Given the description of an element on the screen output the (x, y) to click on. 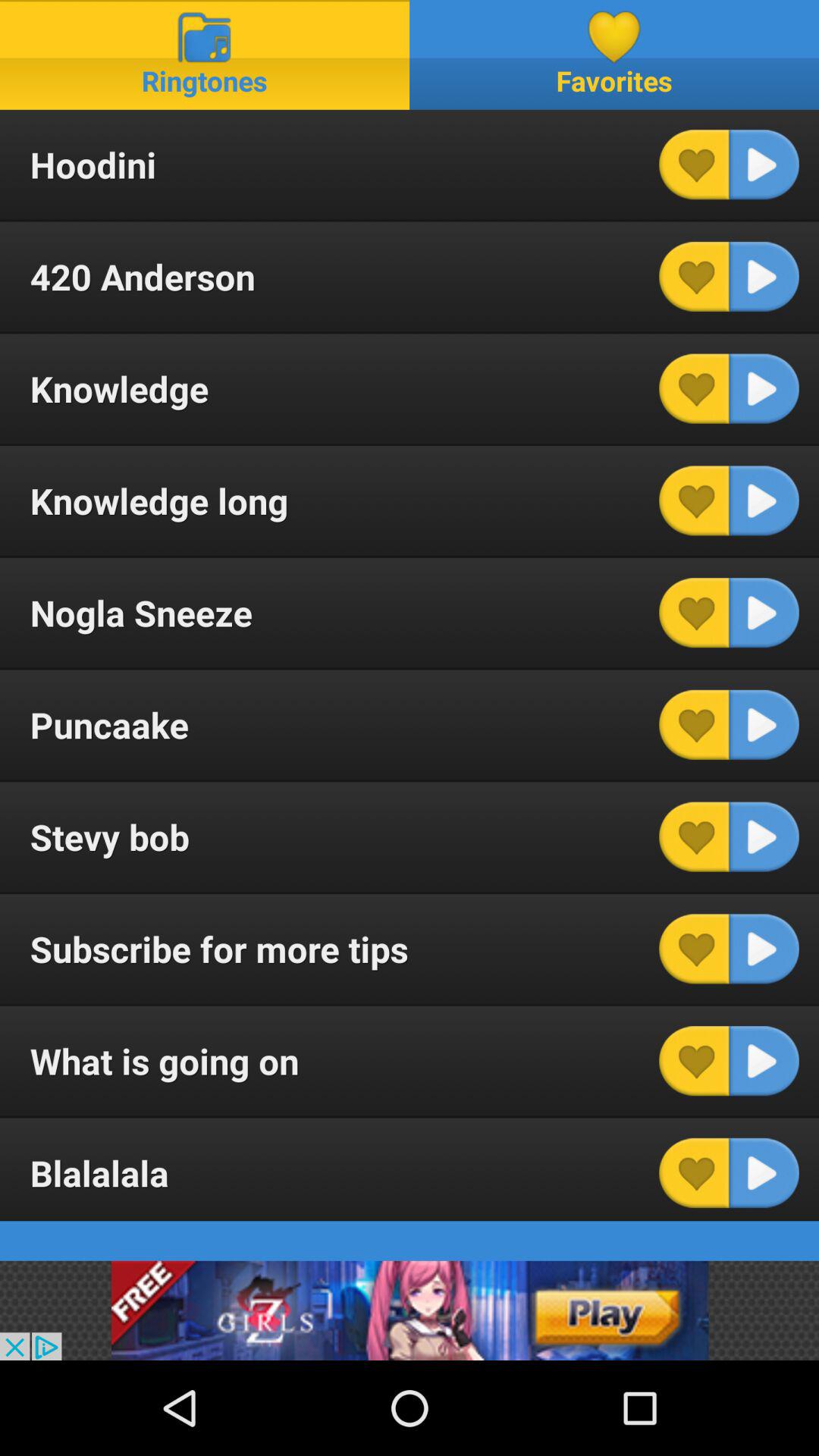
fave the ringtone (694, 724)
